Given the description of an element on the screen output the (x, y) to click on. 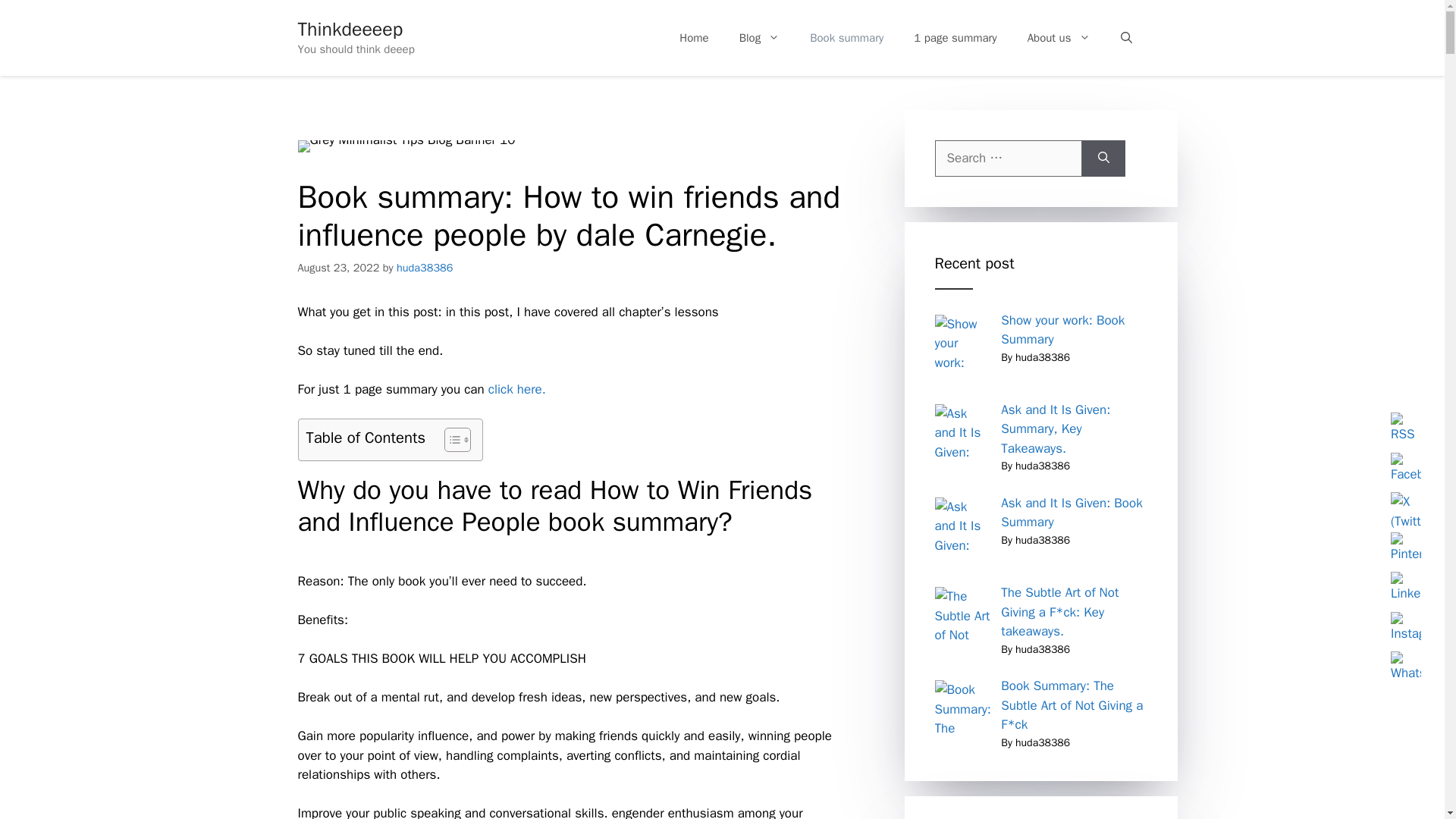
Book summary (846, 37)
1 page summary (954, 37)
huda38386 (424, 267)
Thinkdeeeep (350, 28)
Blog (758, 37)
View all posts by huda38386 (424, 267)
Home (693, 37)
click here. (516, 389)
About us (1058, 37)
